Given the description of an element on the screen output the (x, y) to click on. 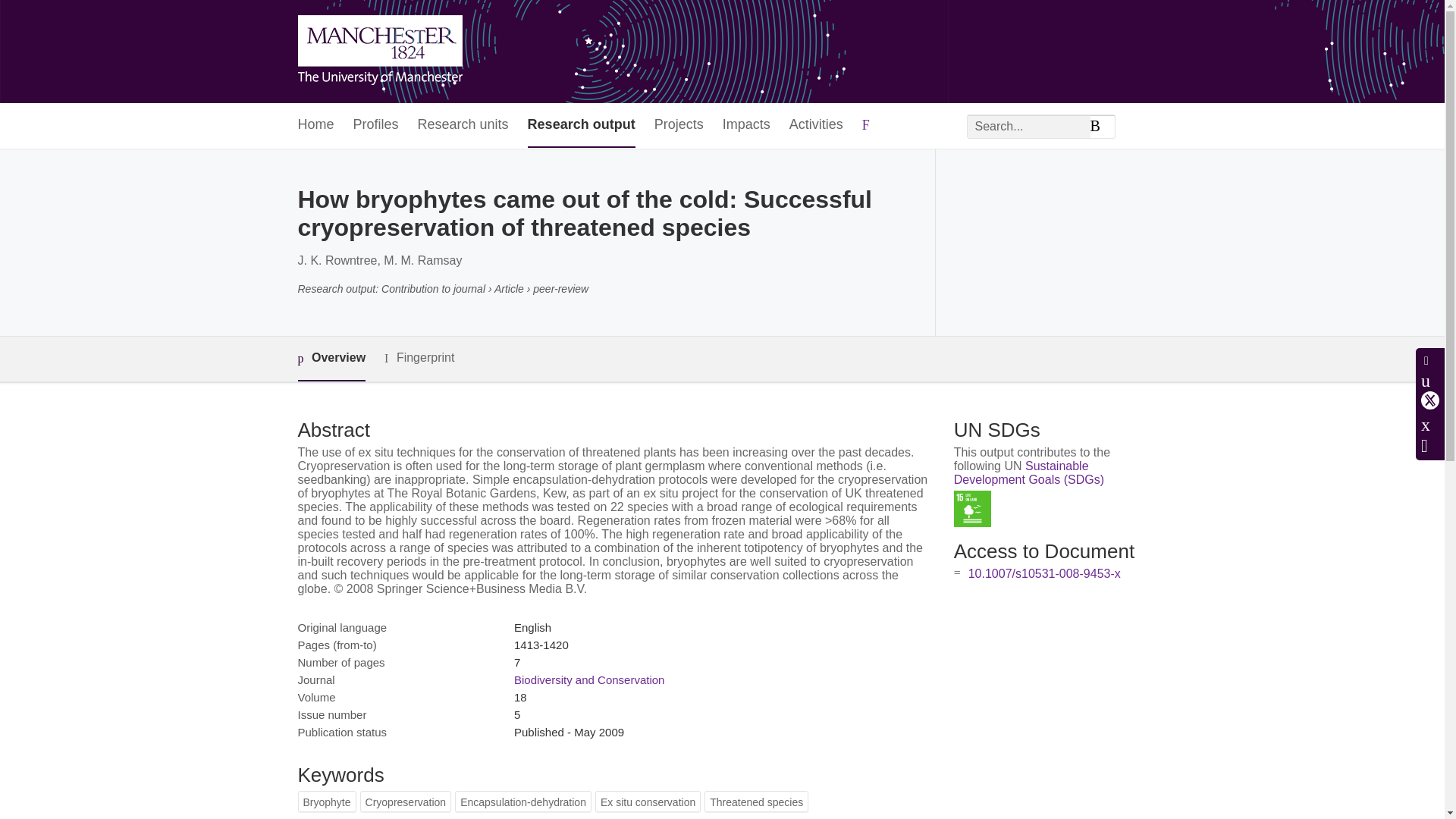
Activities (816, 125)
Research output (580, 125)
Overview (331, 358)
Impacts (746, 125)
Fingerprint (419, 358)
Projects (678, 125)
Biodiversity and Conservation (588, 679)
Research Explorer The University of Manchester Home (379, 51)
SDG 15 - Life on Land (972, 508)
